Given the description of an element on the screen output the (x, y) to click on. 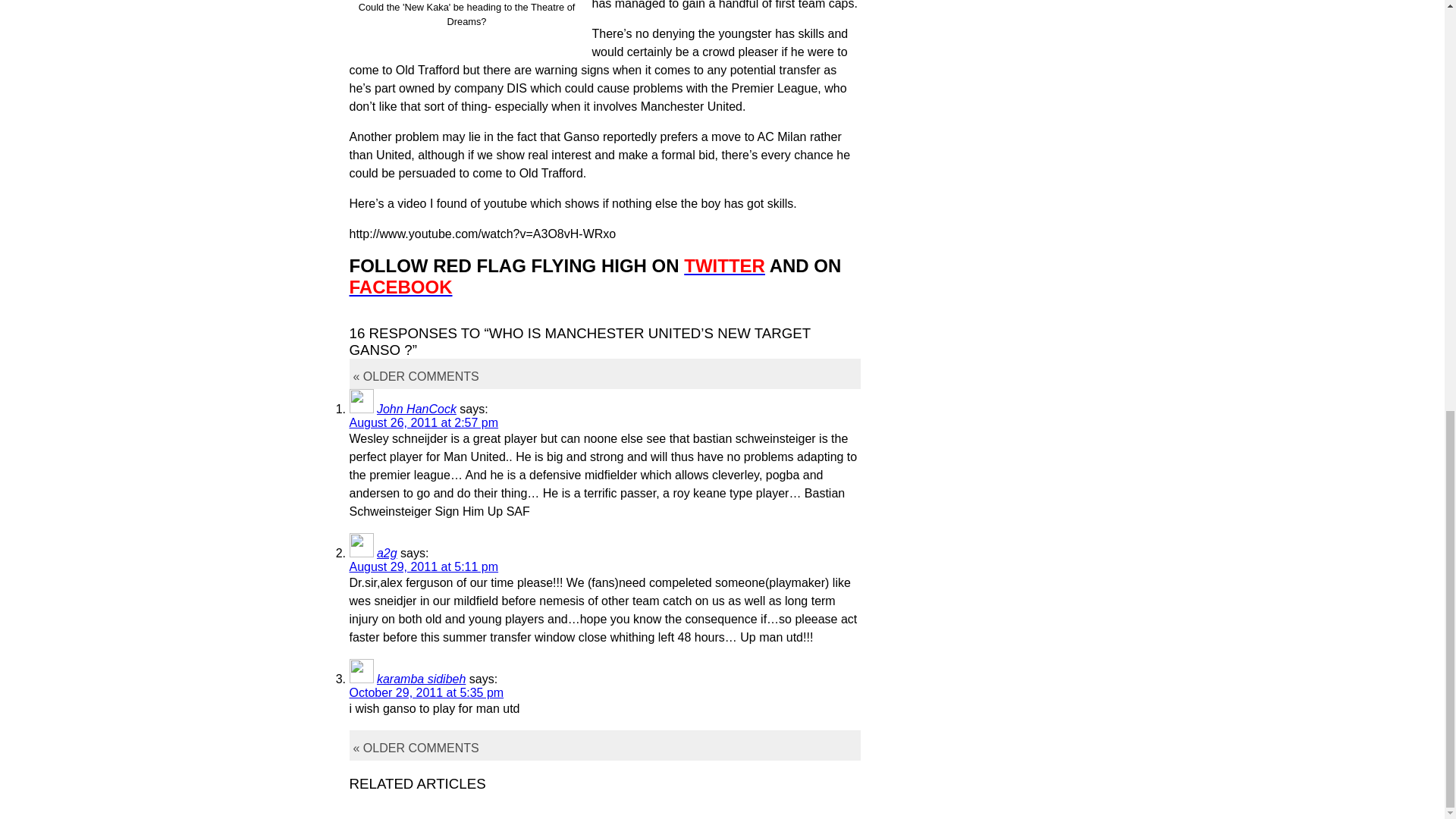
August 29, 2011 at 5:11 pm (423, 566)
October 29, 2011 at 5:35 pm (426, 692)
John HanCock (417, 408)
FACEBOOK (400, 286)
TWITTER (724, 265)
a2g (387, 553)
karamba sidibeh (421, 678)
August 26, 2011 at 2:57 pm (423, 422)
